Given the description of an element on the screen output the (x, y) to click on. 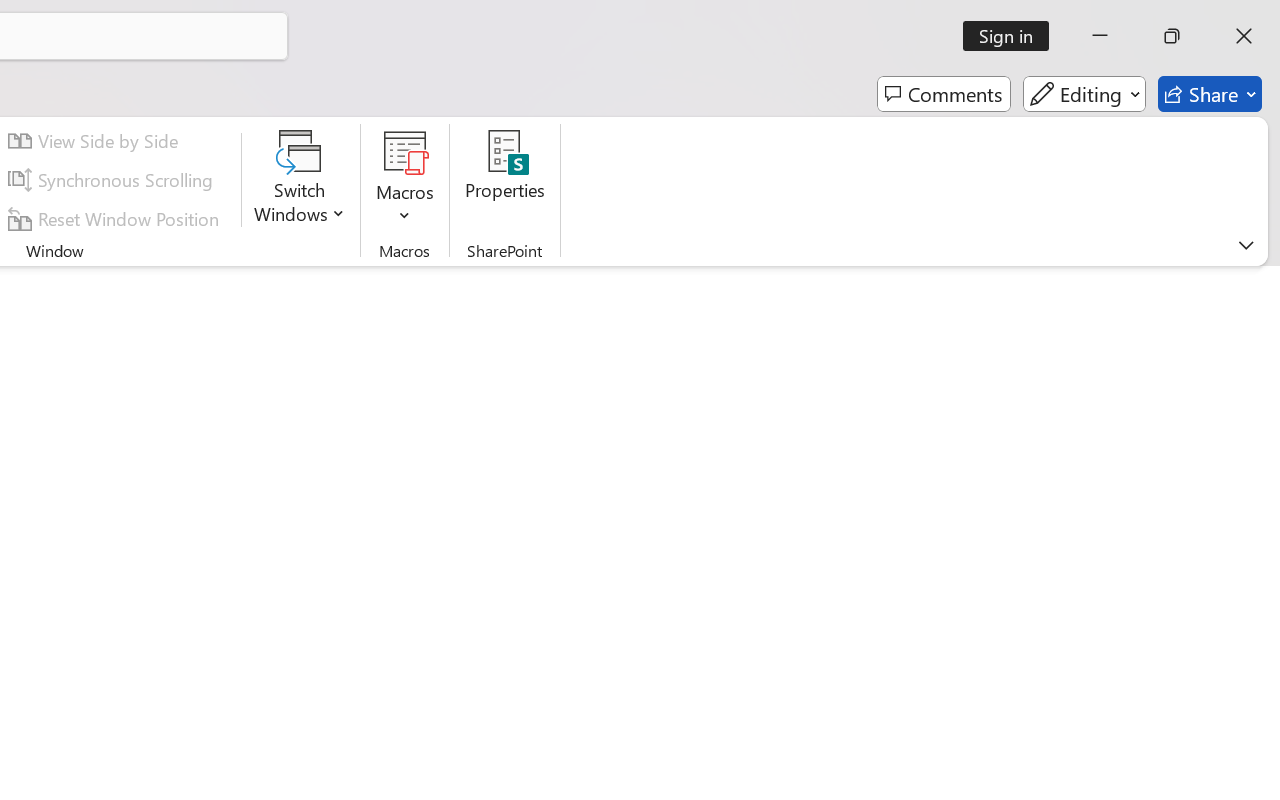
View Side by Side (96, 141)
